Given the description of an element on the screen output the (x, y) to click on. 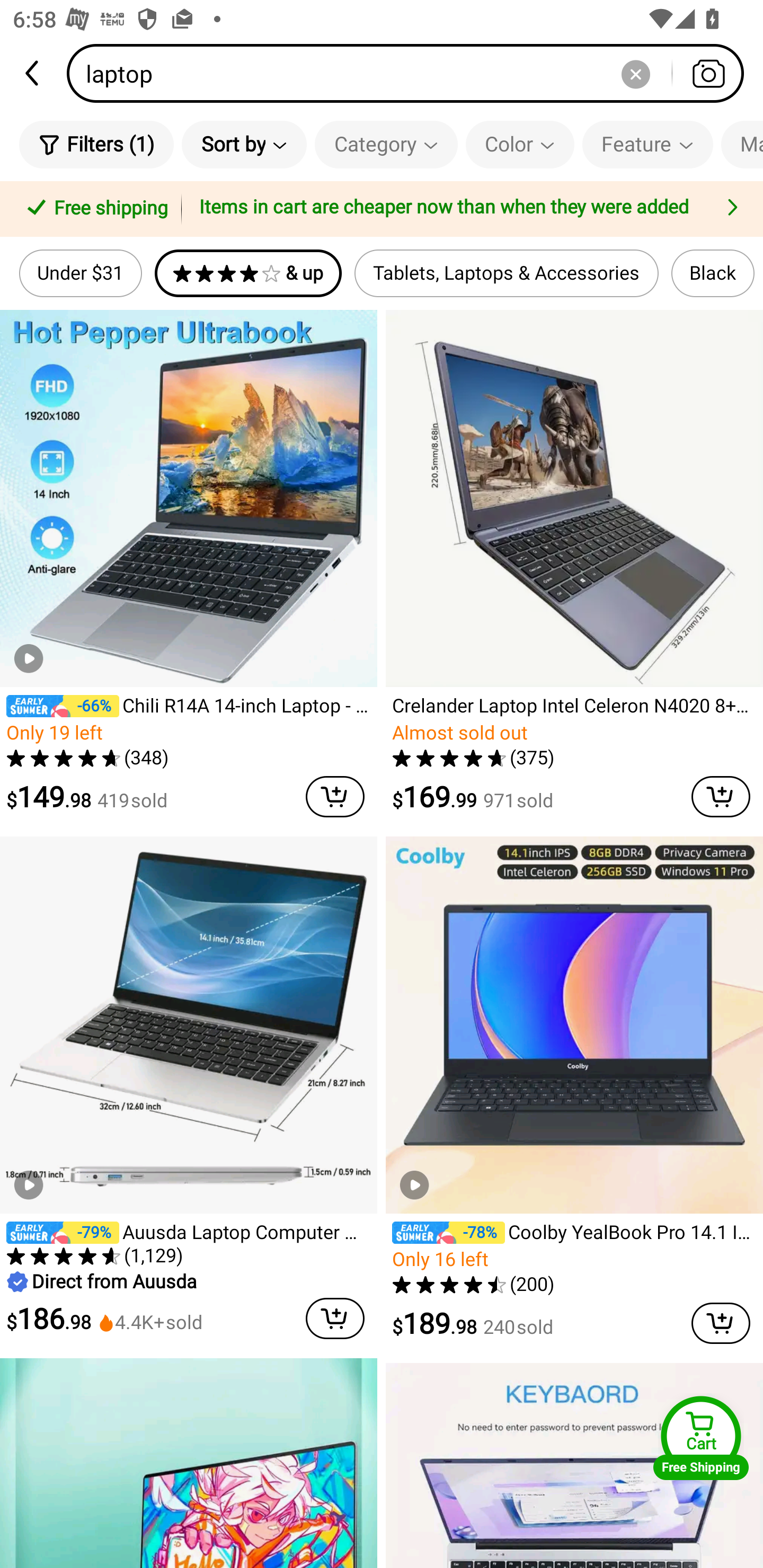
back (33, 72)
laptop (411, 73)
Delete search history (635, 73)
Search by photo (708, 73)
Filters (1) (96, 143)
Sort by (243, 143)
Category (385, 143)
Color (519, 143)
Feature (647, 143)
 Free shipping (93, 208)
Under $31 (80, 273)
& up (247, 273)
Tablets, Laptops & Accessories (506, 273)
Black (712, 273)
cart delete (334, 796)
cart delete (720, 796)
cart delete (334, 1318)
cart delete (720, 1323)
Cart Free Shipping Cart (701, 1437)
